Given the description of an element on the screen output the (x, y) to click on. 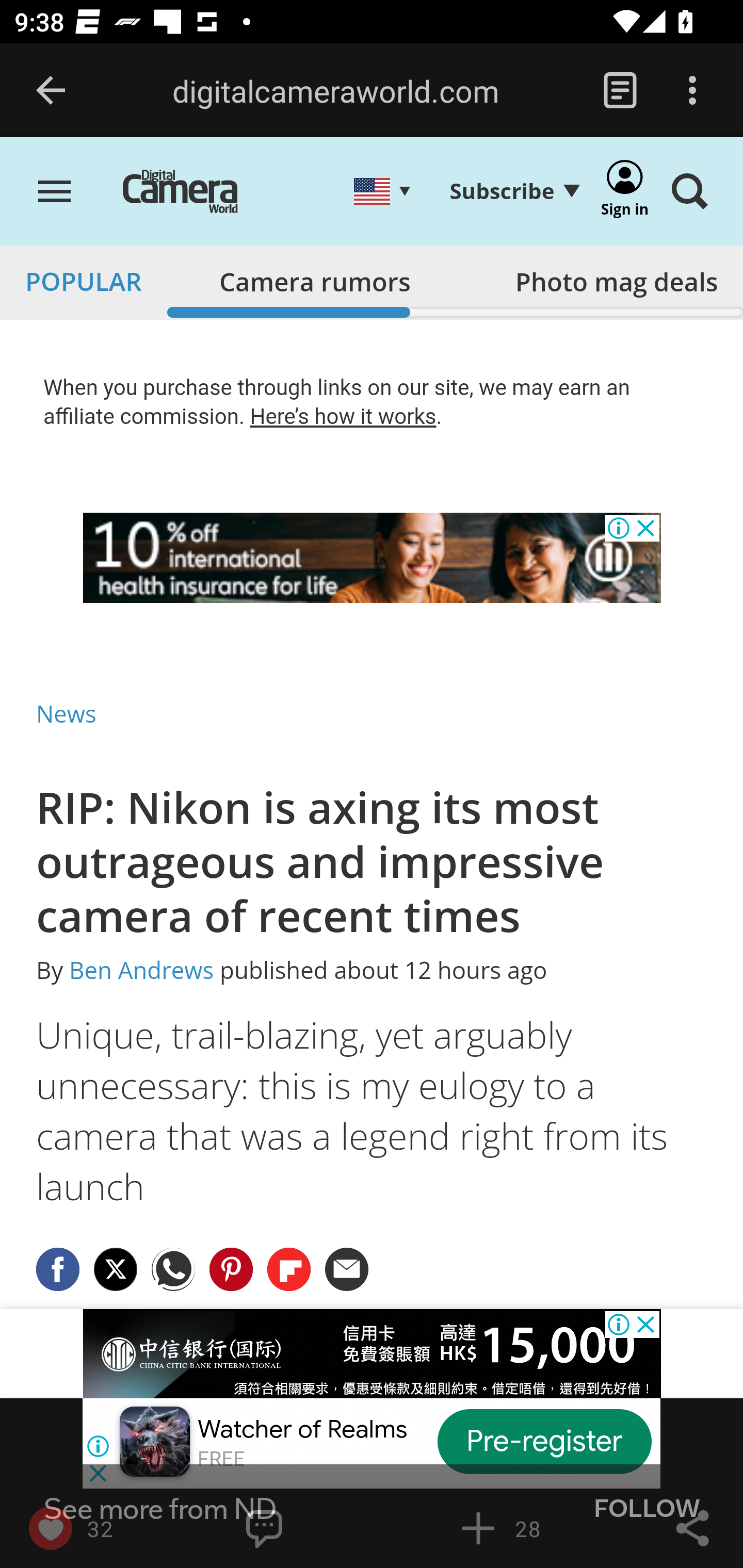
Back (50, 90)
Reader View (619, 90)
Options (692, 90)
Open menu (54, 192)
Digital Camera World (194, 192)
Sign in (625, 192)
Search (689, 192)
Subscribe (514, 190)
Camera rumors (314, 281)
Photo mag deals (616, 281)
Here’s how it works (342, 415)
Return to News News (66, 712)
Ben Andrews (141, 970)
Share this page on Facebook (58, 1268)
 Share this page on Twitter (115, 1268)
Share this page on WhatsApp (173, 1268)
Share this page on Pinterest (230, 1268)
Share this page on Flipboard (289, 1268)
Share this page on your Email  (347, 1268)
Pre-register (544, 1441)
Watcher of Realms (302, 1428)
FREE (221, 1458)
FOLLOW (646, 1509)
